Given the description of an element on the screen output the (x, y) to click on. 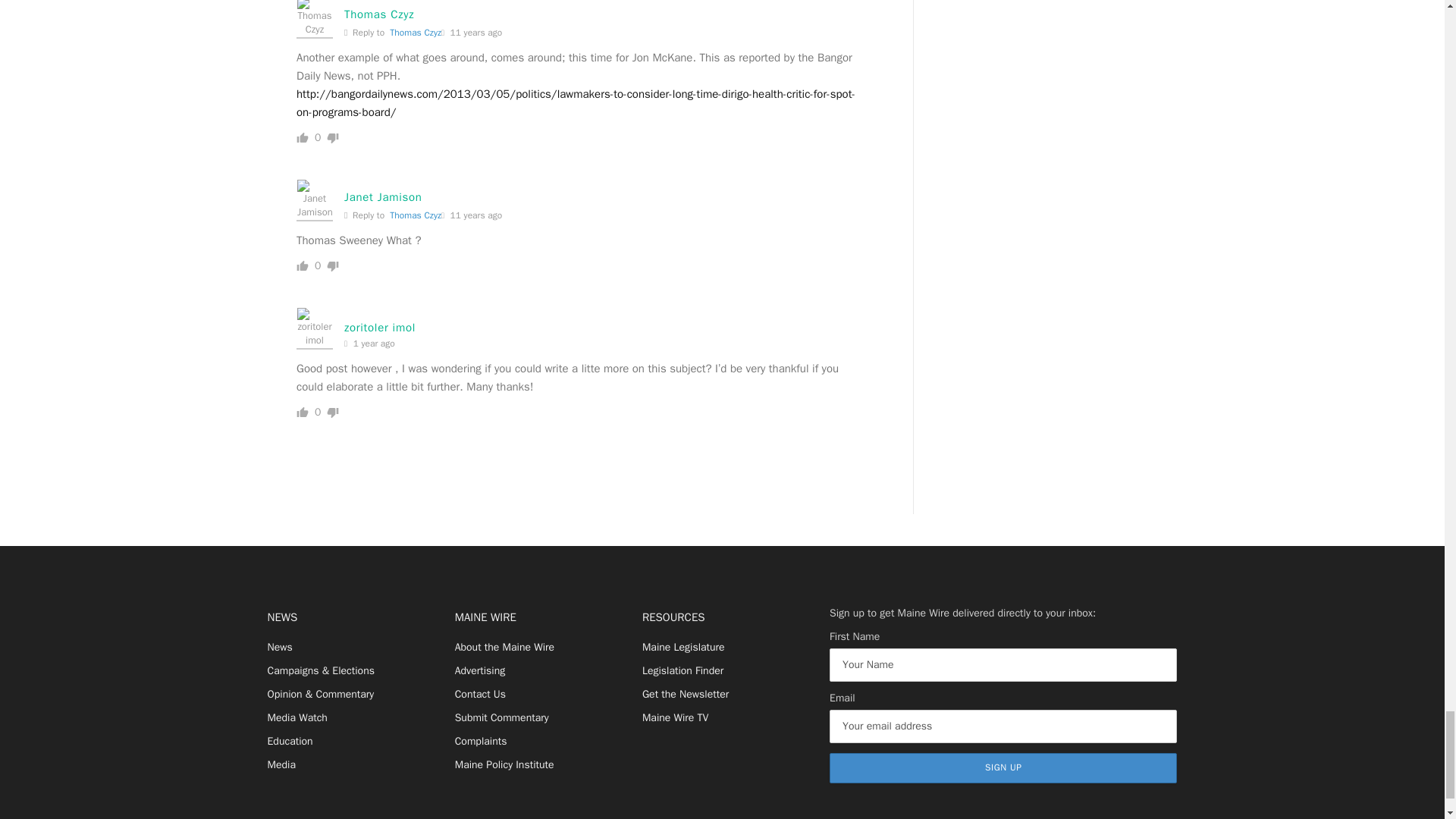
Sign up (1002, 767)
